Given the description of an element on the screen output the (x, y) to click on. 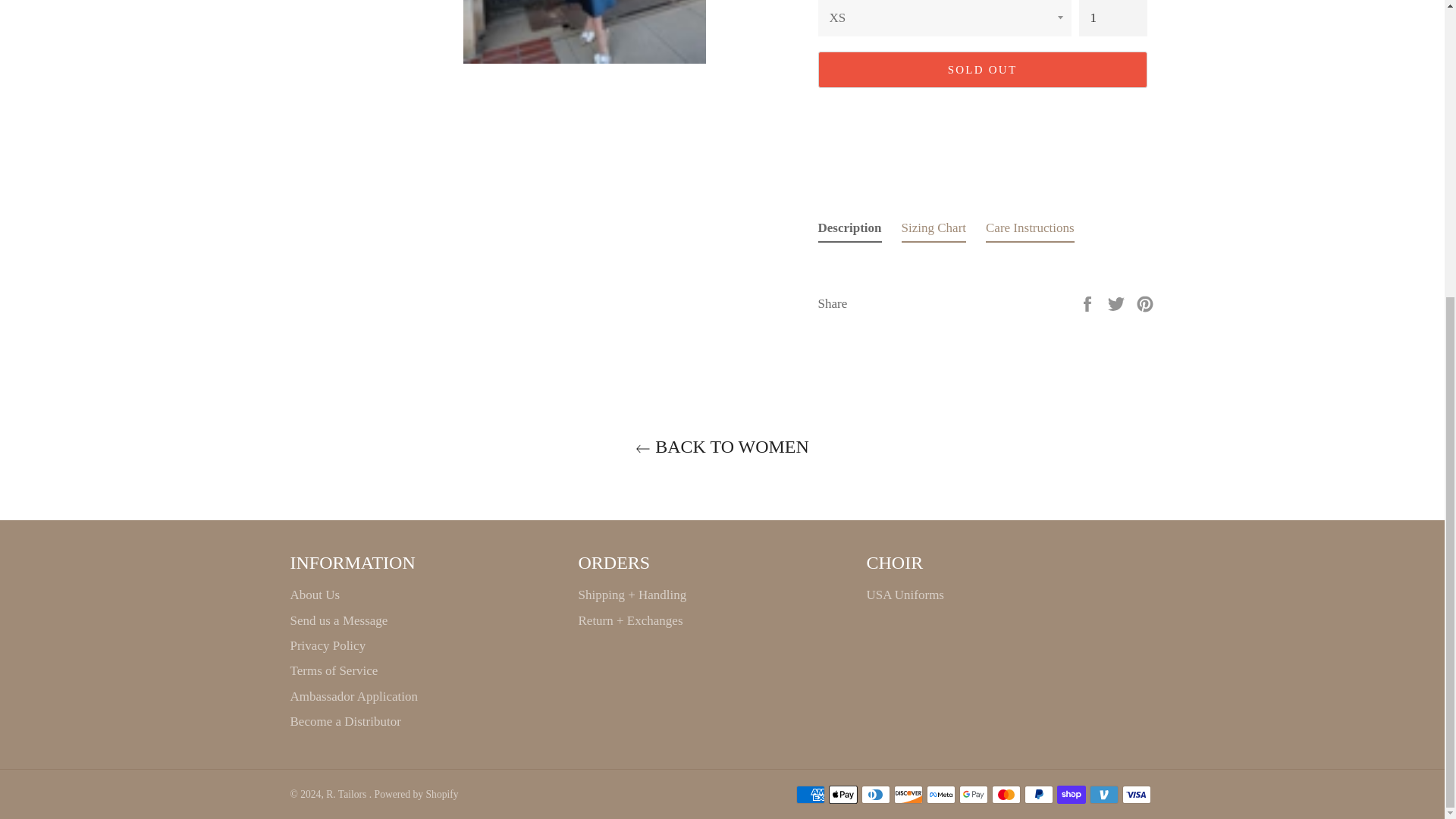
Tweet on Twitter (1117, 302)
1 (1112, 18)
Share on Facebook (1088, 302)
Pin on Pinterest (1144, 302)
